Given the description of an element on the screen output the (x, y) to click on. 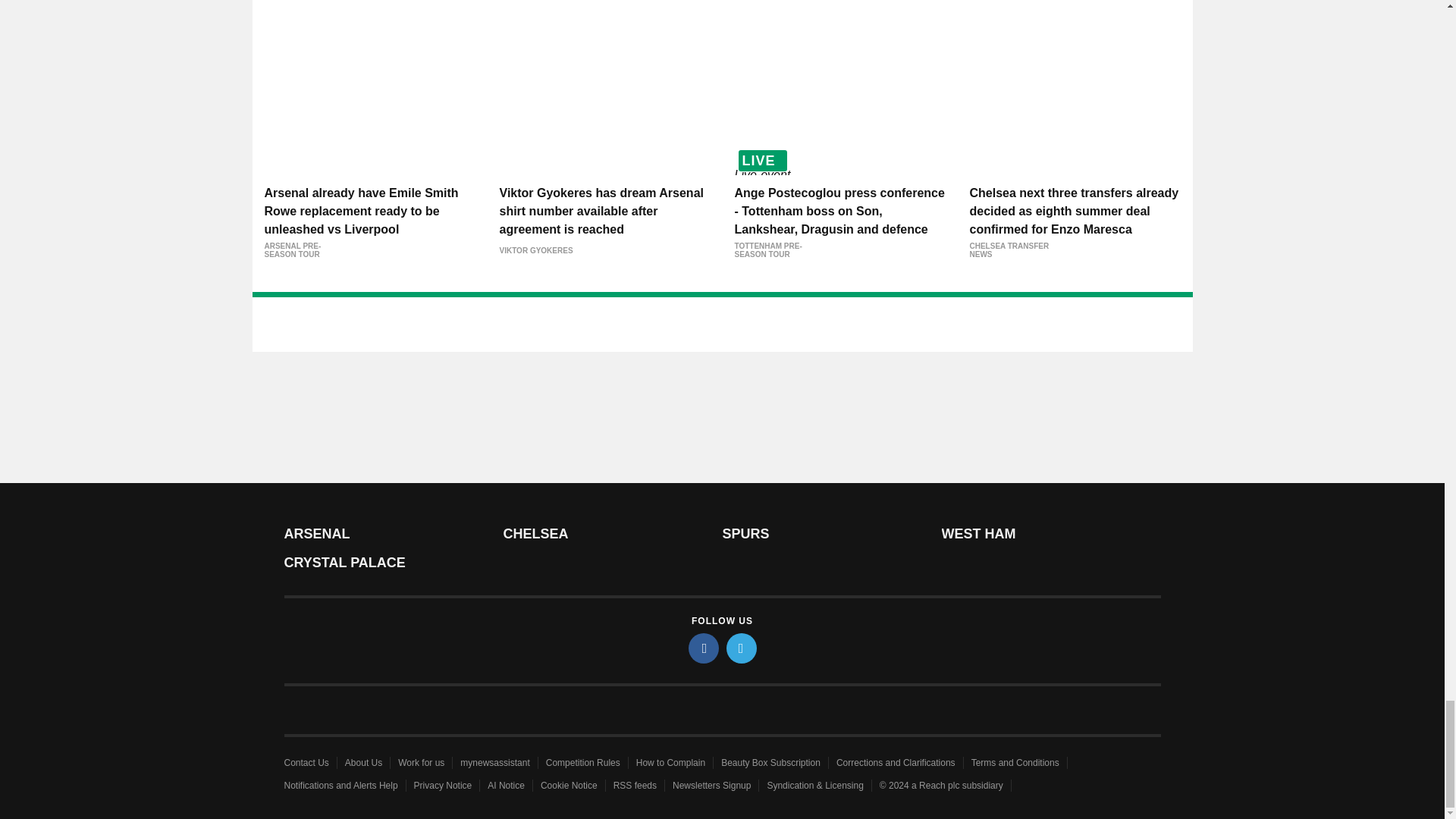
facebook (703, 648)
twitter (741, 648)
